Given the description of an element on the screen output the (x, y) to click on. 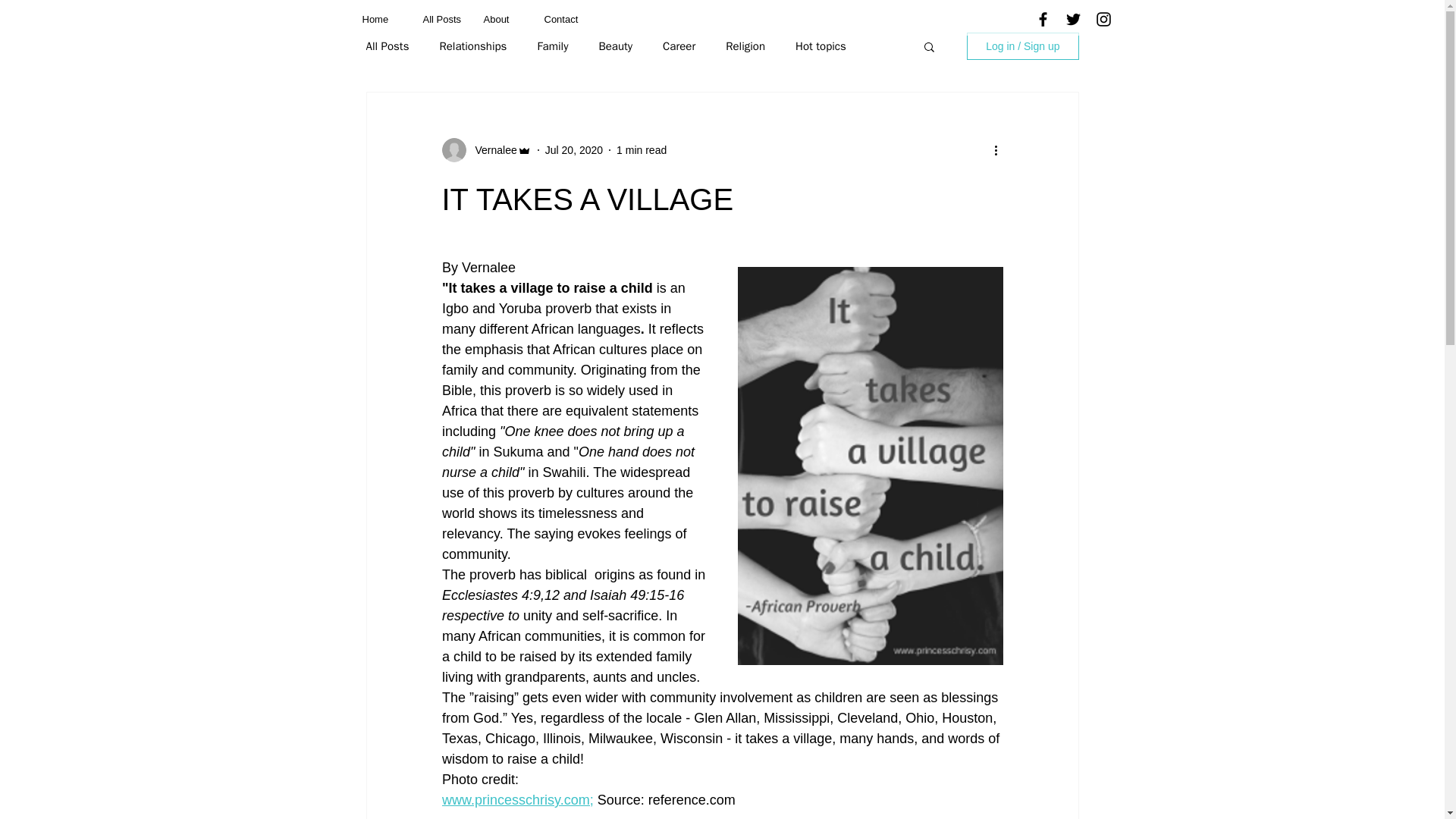
Jul 20, 2020 (573, 150)
Home (380, 18)
1 min read (640, 150)
Religion (745, 46)
Contact (562, 18)
Career (678, 46)
Family (552, 46)
All Posts (440, 18)
Vernalee (490, 150)
Hot topics (819, 46)
